Given the description of an element on the screen output the (x, y) to click on. 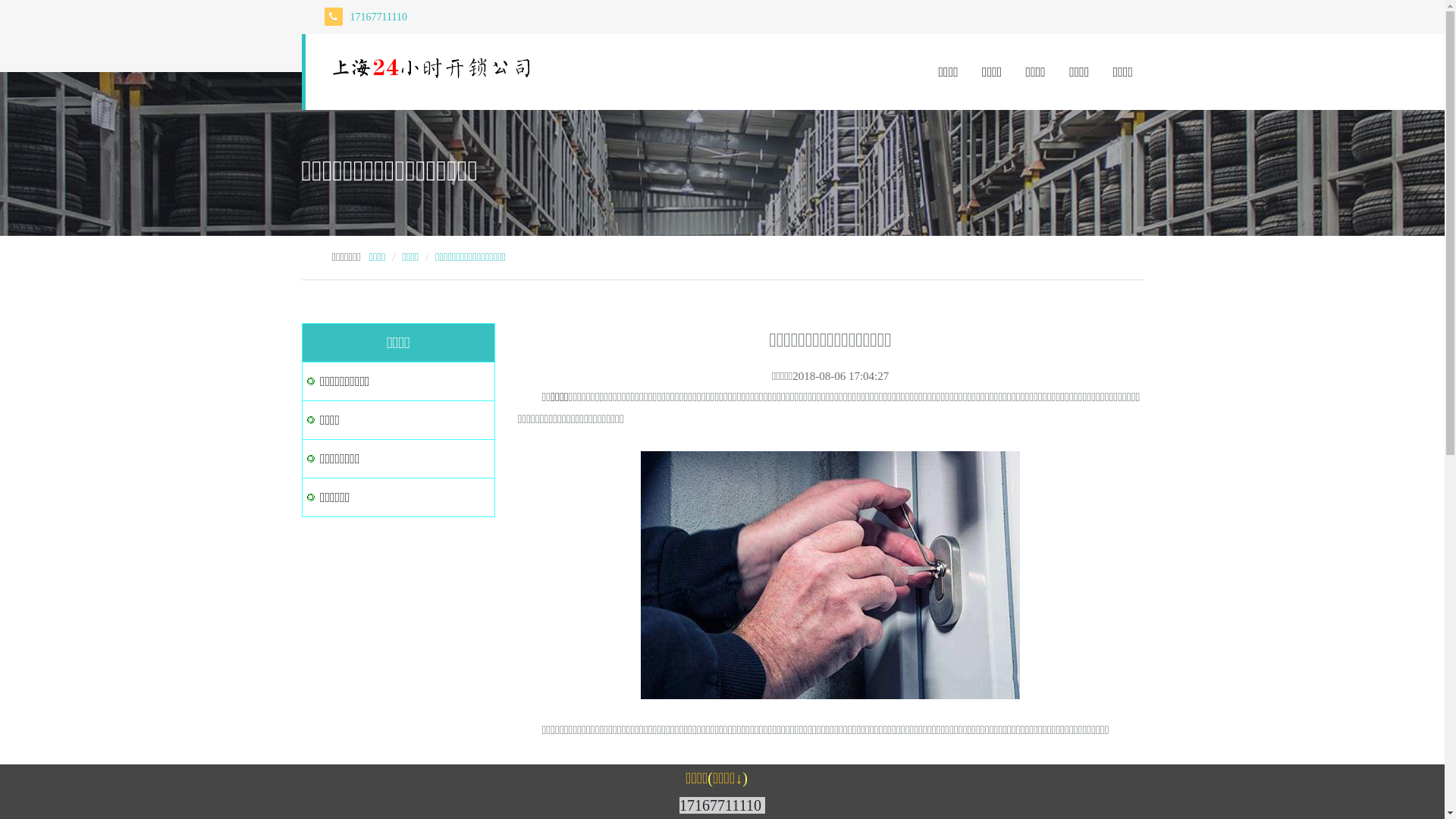
17167711110 Element type: text (378, 16)
17167711110 Element type: text (720, 805)
